Given the description of an element on the screen output the (x, y) to click on. 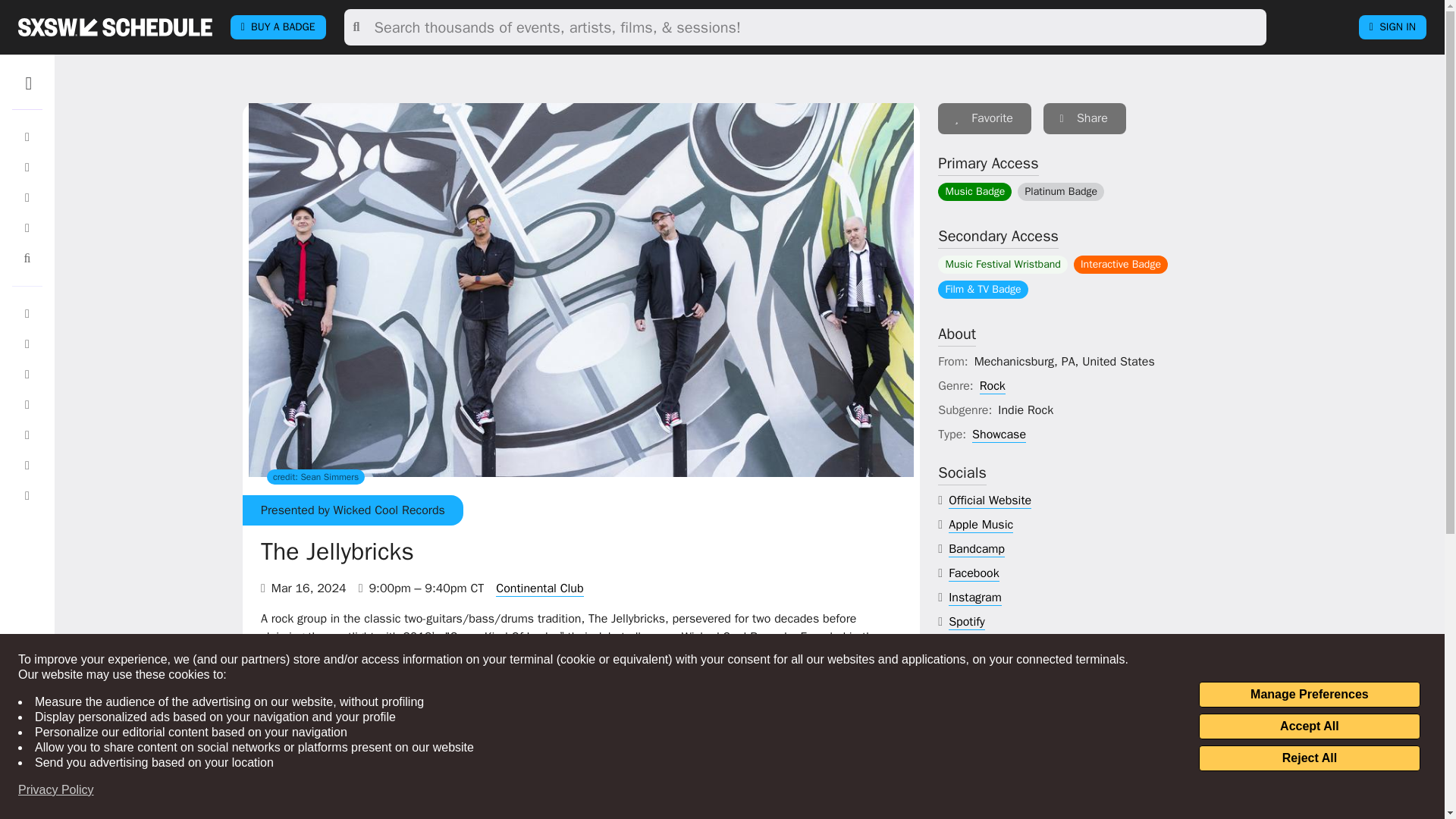
bandcamp (976, 549)
Presented by Wicked Cool Records (352, 509)
Accept All (1309, 726)
facebook (973, 573)
SIGN IN (1392, 27)
Sign In to add to your favorites. (983, 118)
Reject All (1309, 758)
sxsw SCHEDULE (114, 27)
website (989, 500)
BUY A BADGE (278, 27)
